Given the description of an element on the screen output the (x, y) to click on. 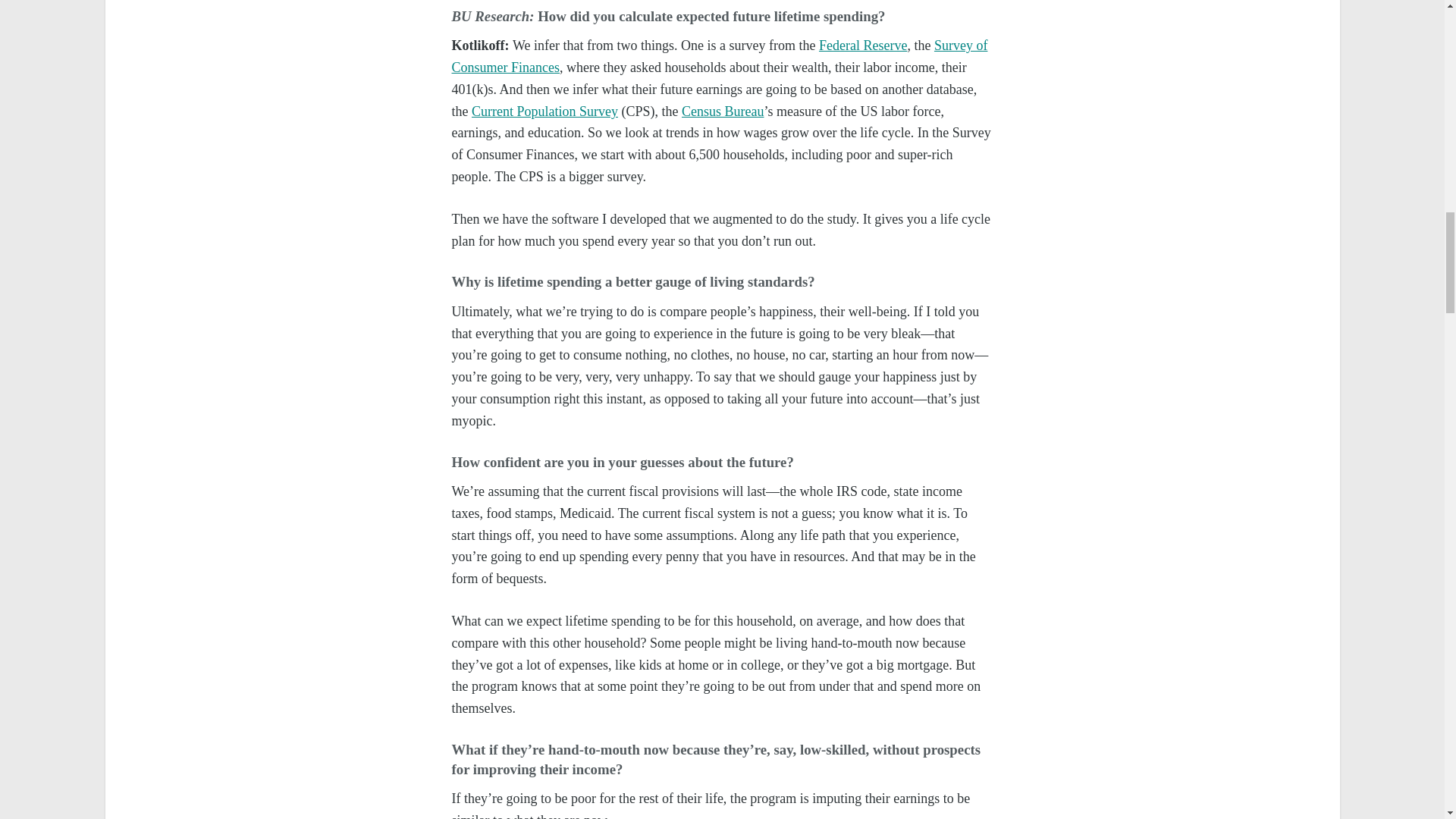
Survey of Consumer Finances (719, 56)
Census Bureau (721, 111)
Federal Reserve (862, 45)
Current Population Survey (544, 111)
